Given the description of an element on the screen output the (x, y) to click on. 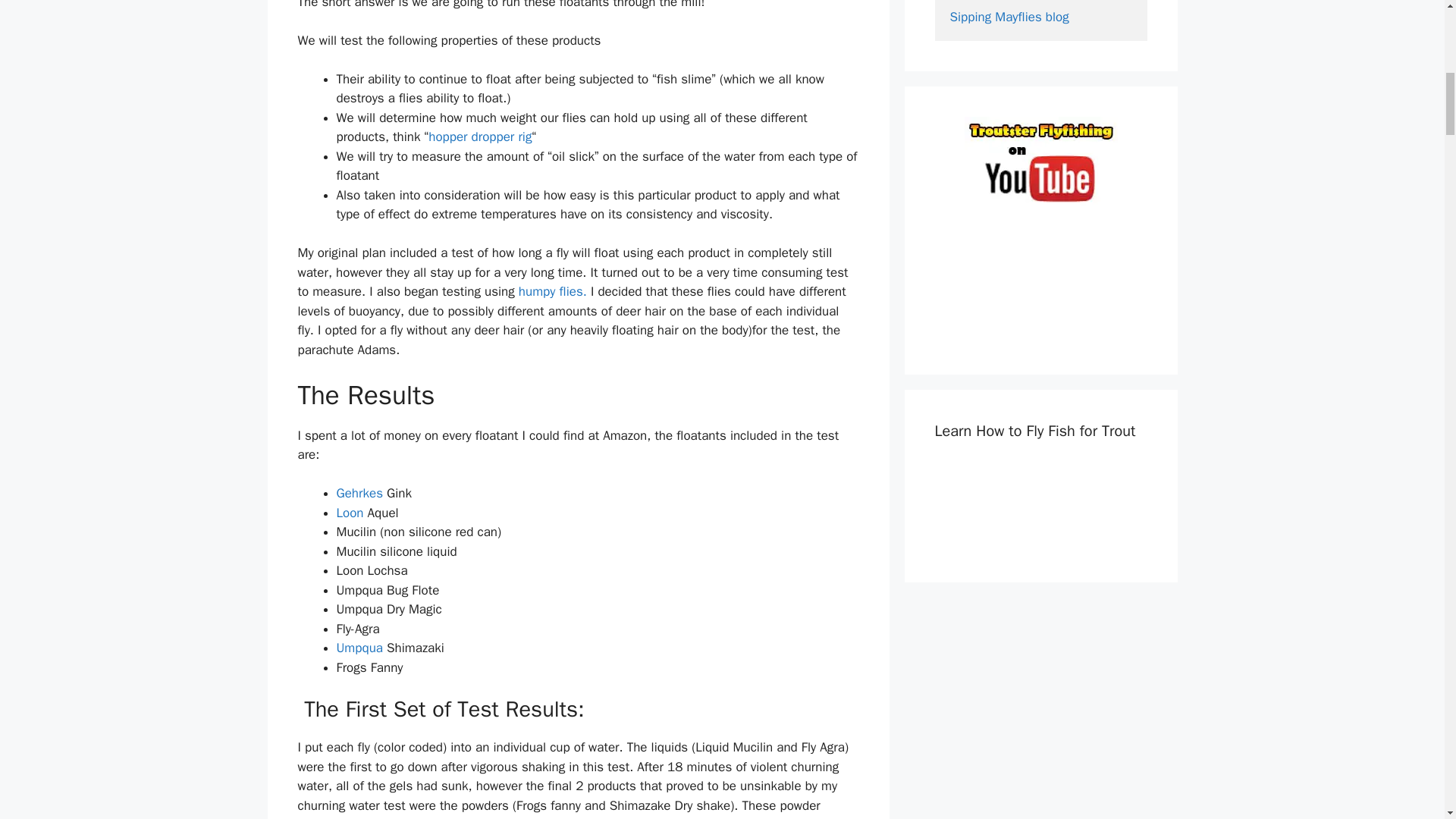
Fly fishing with Hoppers! Using the Hopper Dropper Rig (479, 136)
The Humpy Fly Pattern (550, 291)
Learn How to Fly Fish for Trout (1040, 506)
Scroll back to top (1406, 720)
